Given the description of an element on the screen output the (x, y) to click on. 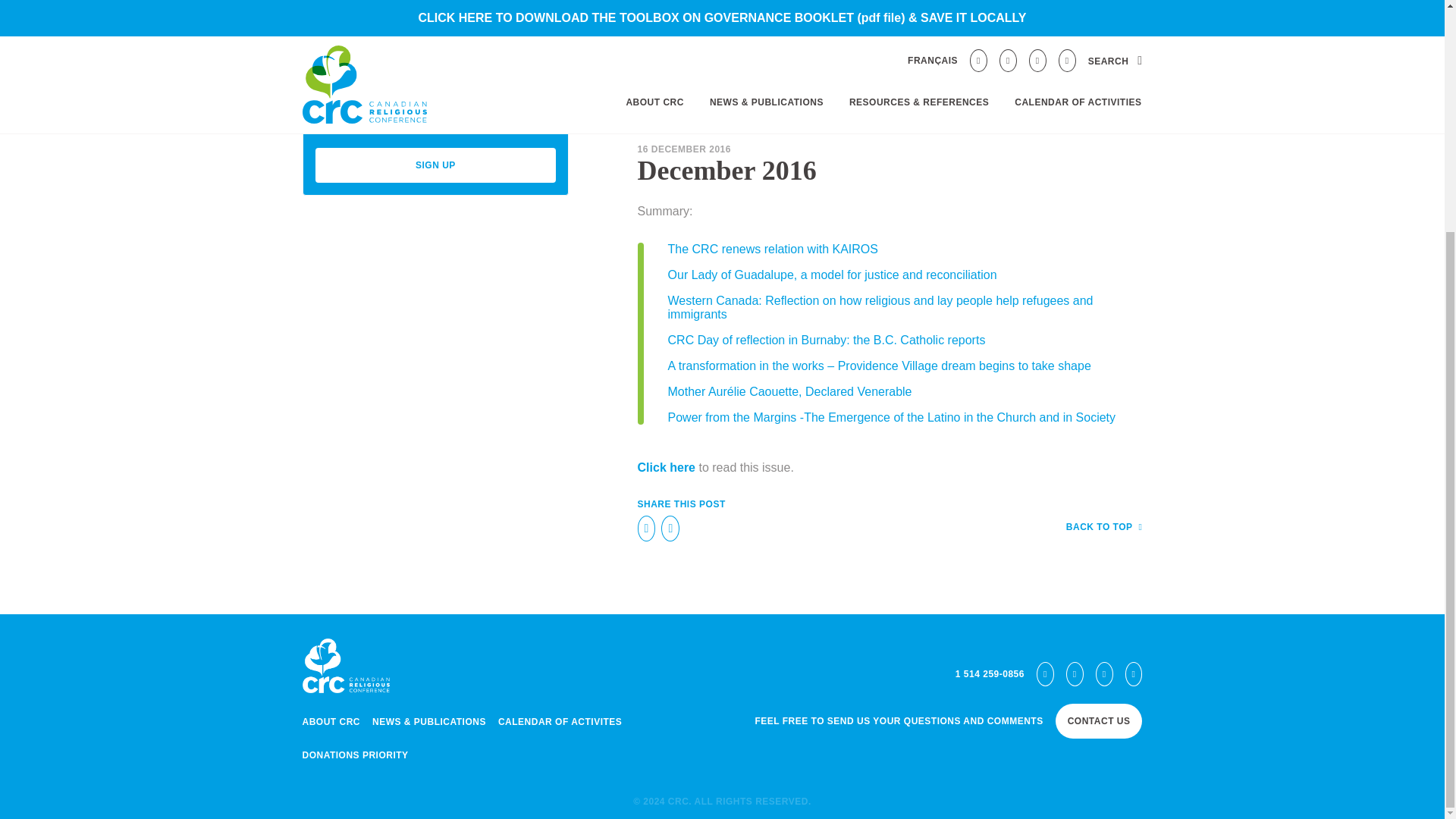
BACK TO TOP (1103, 526)
